Given the description of an element on the screen output the (x, y) to click on. 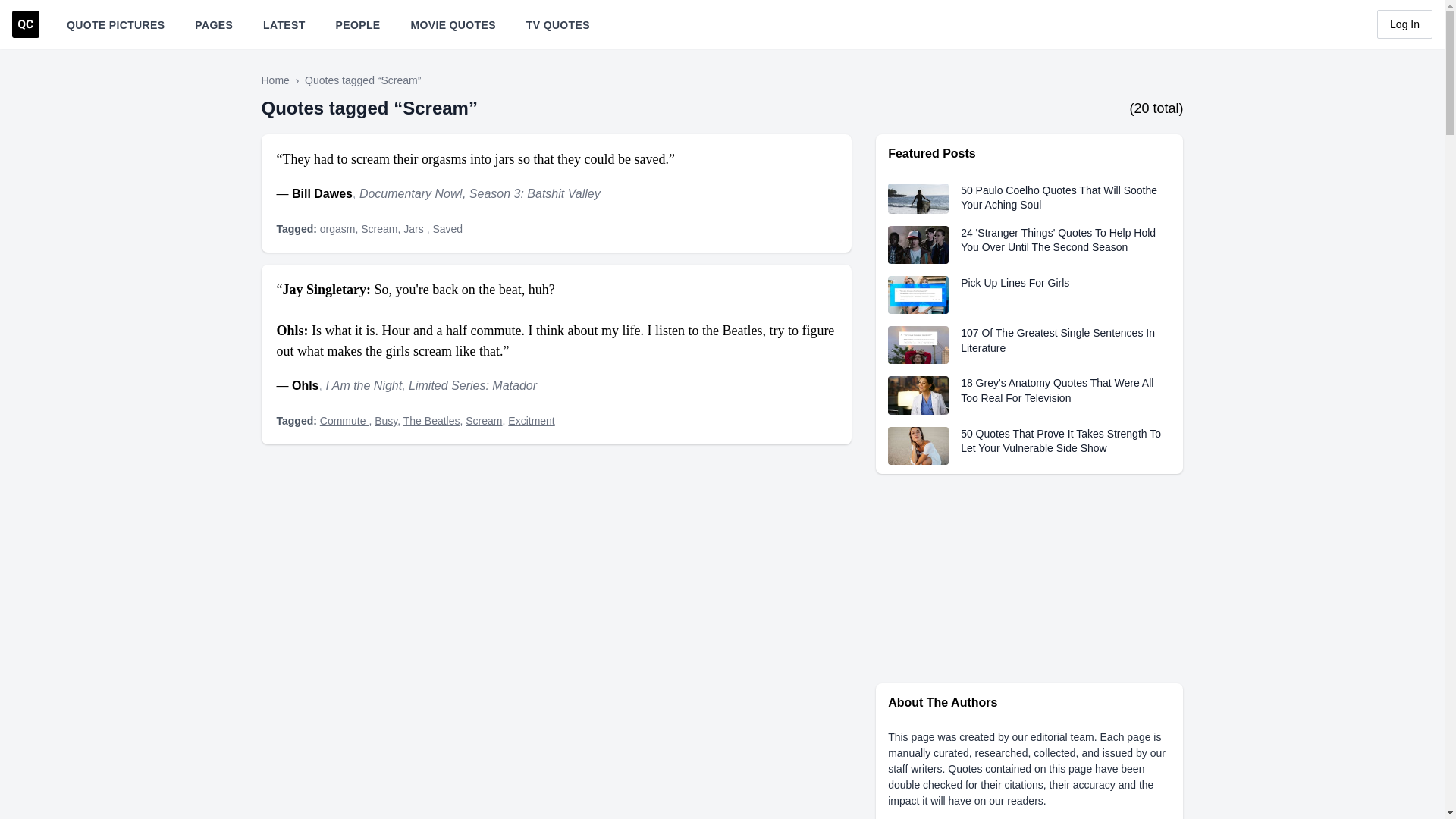
TV QUOTES (557, 24)
Log In (1404, 23)
LATEST (284, 24)
The Beatles (431, 420)
I Am the Night (362, 385)
Jars (414, 228)
Batshit Valley (563, 193)
Season 3 (494, 193)
Busy (385, 420)
Scream (379, 228)
